Given the description of an element on the screen output the (x, y) to click on. 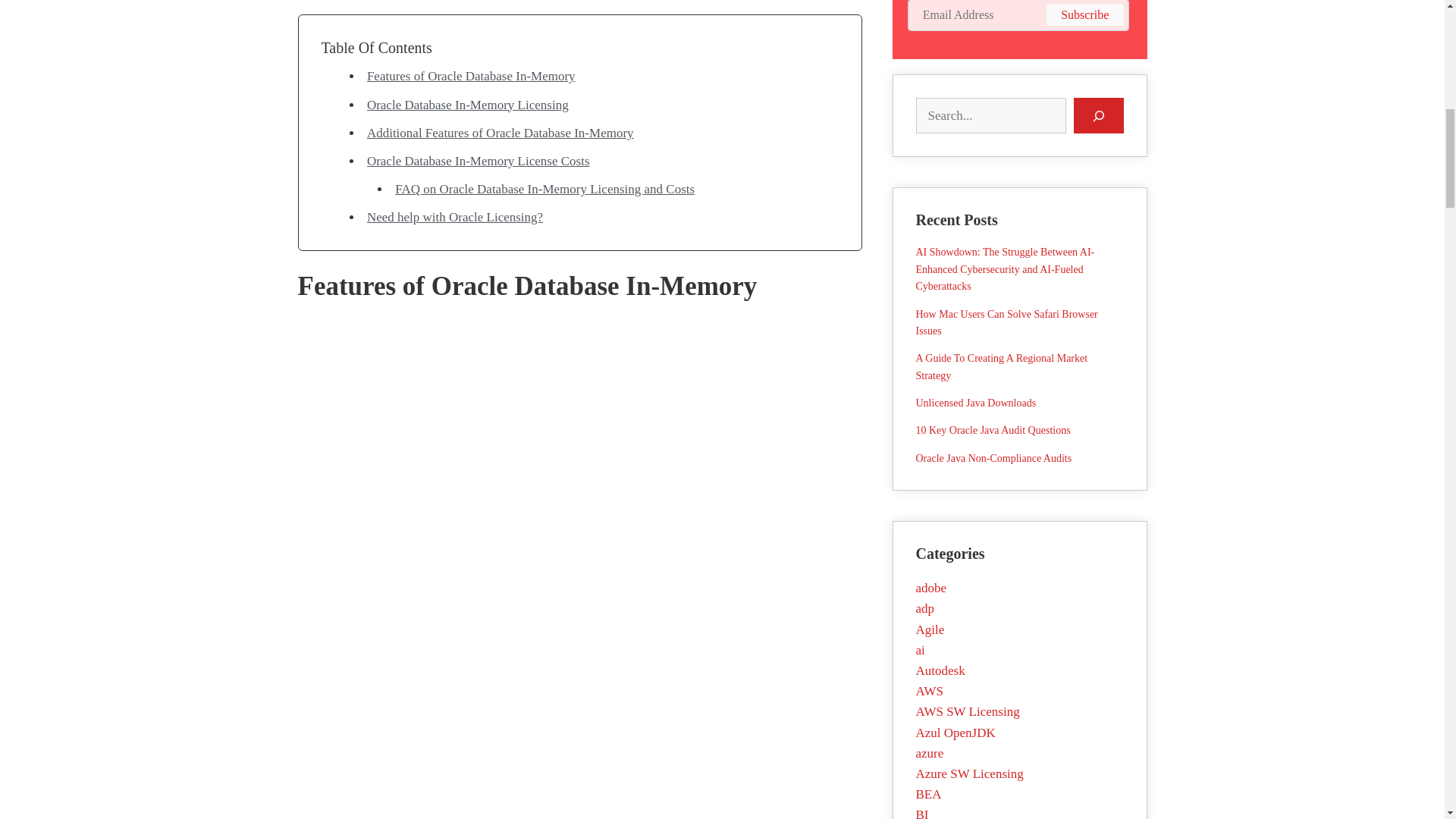
Subscribe (1084, 14)
